Given the description of an element on the screen output the (x, y) to click on. 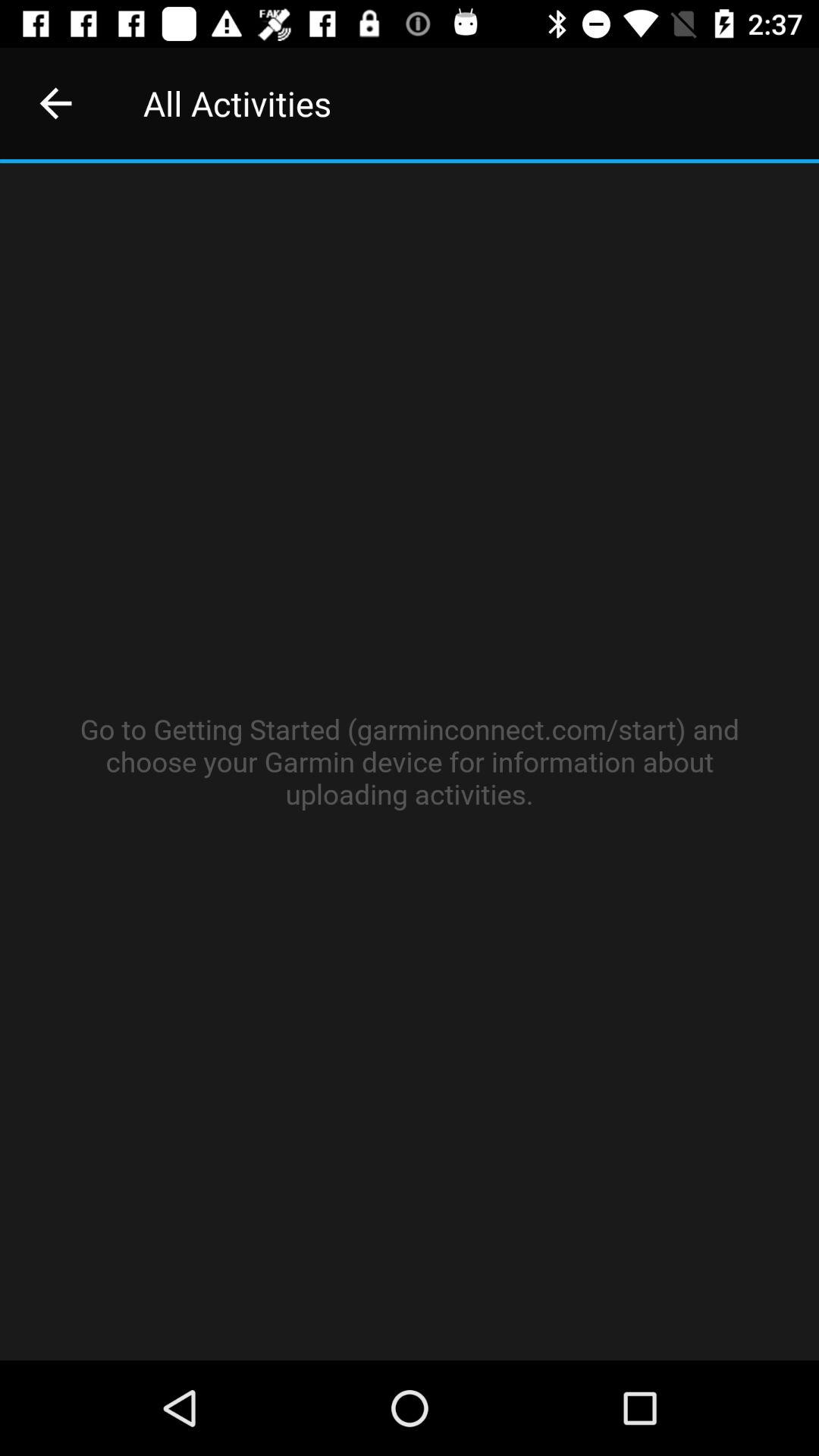
click the item next to all activities item (55, 103)
